Given the description of an element on the screen output the (x, y) to click on. 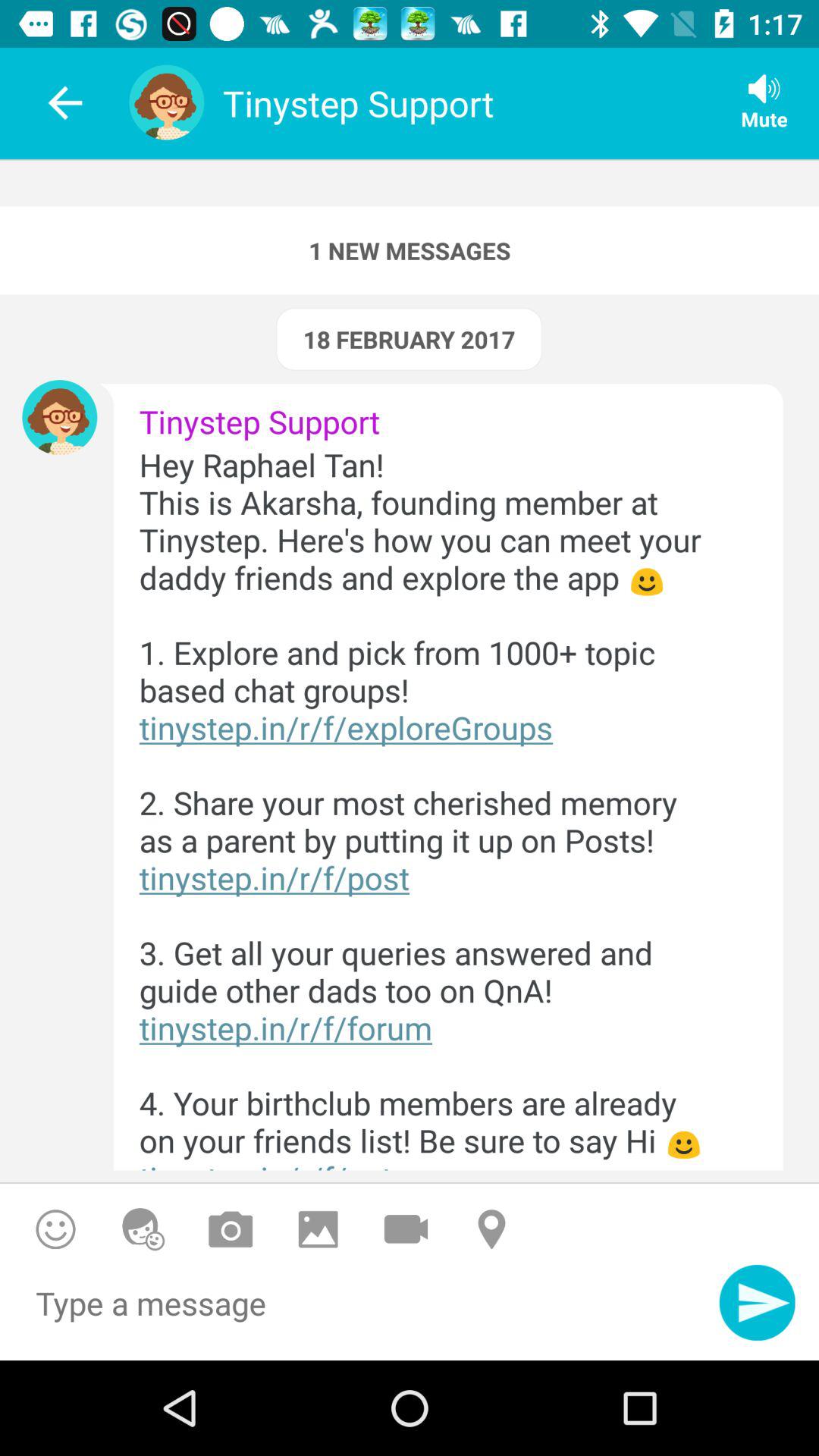
swipe until the hey raphael tan icon (435, 806)
